Given the description of an element on the screen output the (x, y) to click on. 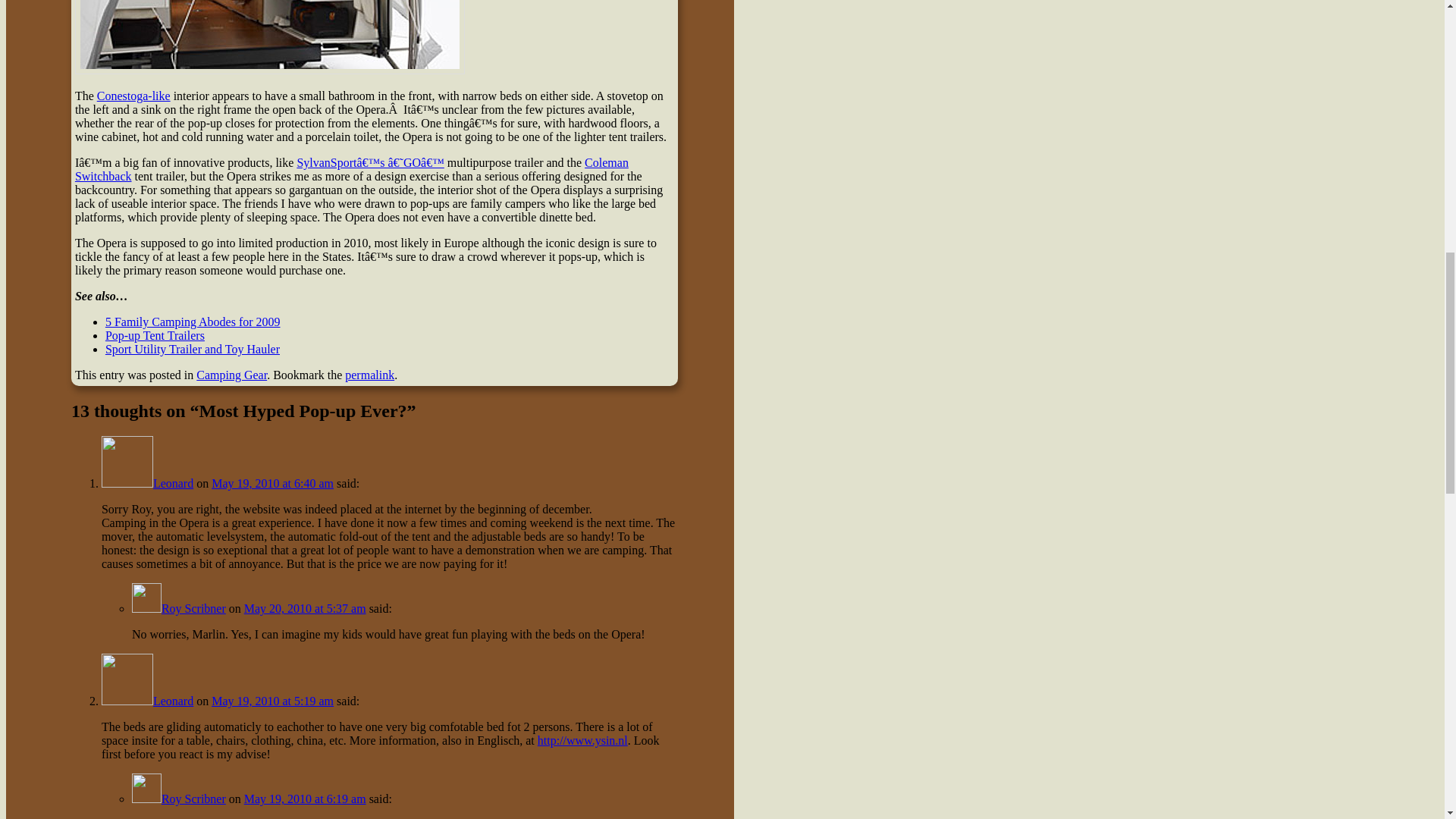
CampingBlogger - 5 Family Camping Abodes for 2009 (192, 321)
Leonard (172, 482)
Pop-up Tent Trailers (154, 335)
Conestoga-like (133, 95)
Roy Scribner (193, 798)
5 Family Camping Abodes for 2009 (192, 321)
May 20, 2010 at 5:37 am (305, 608)
CampingBlogger - 5 Family Camping Abodes for 2009 (370, 162)
opera-tent-trailer-interior (269, 37)
Camping Gear (231, 374)
May 19, 2010 at 6:40 am (272, 482)
CampingBlogger - Pop-up Tent Trailers (154, 335)
Coleman Switchback (351, 169)
May 19, 2010 at 6:19 am (305, 798)
May 19, 2010 at 5:19 am (272, 700)
